Given the description of an element on the screen output the (x, y) to click on. 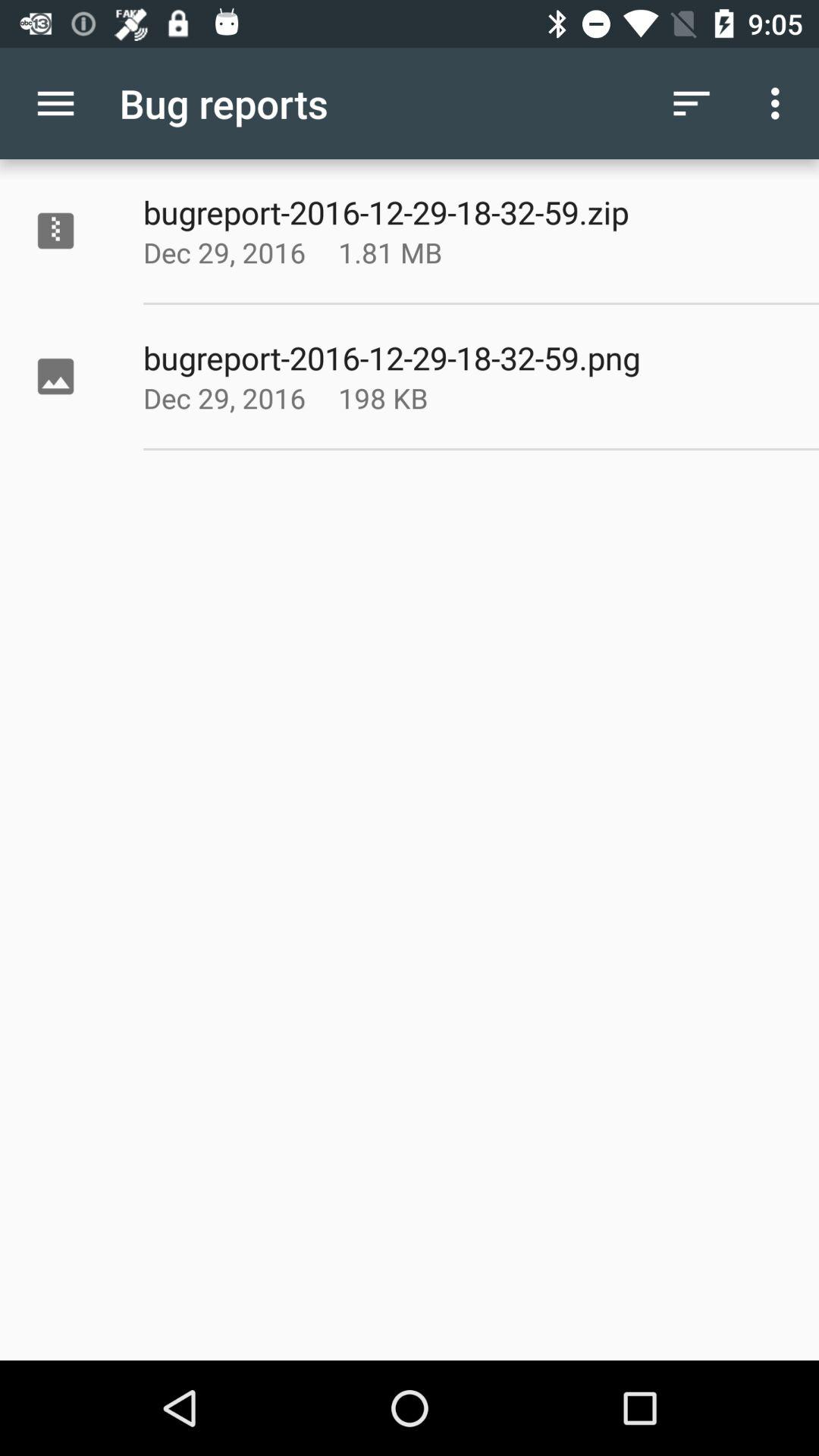
turn on the icon to the right of the dec 29, 2016 app (427, 397)
